Given the description of an element on the screen output the (x, y) to click on. 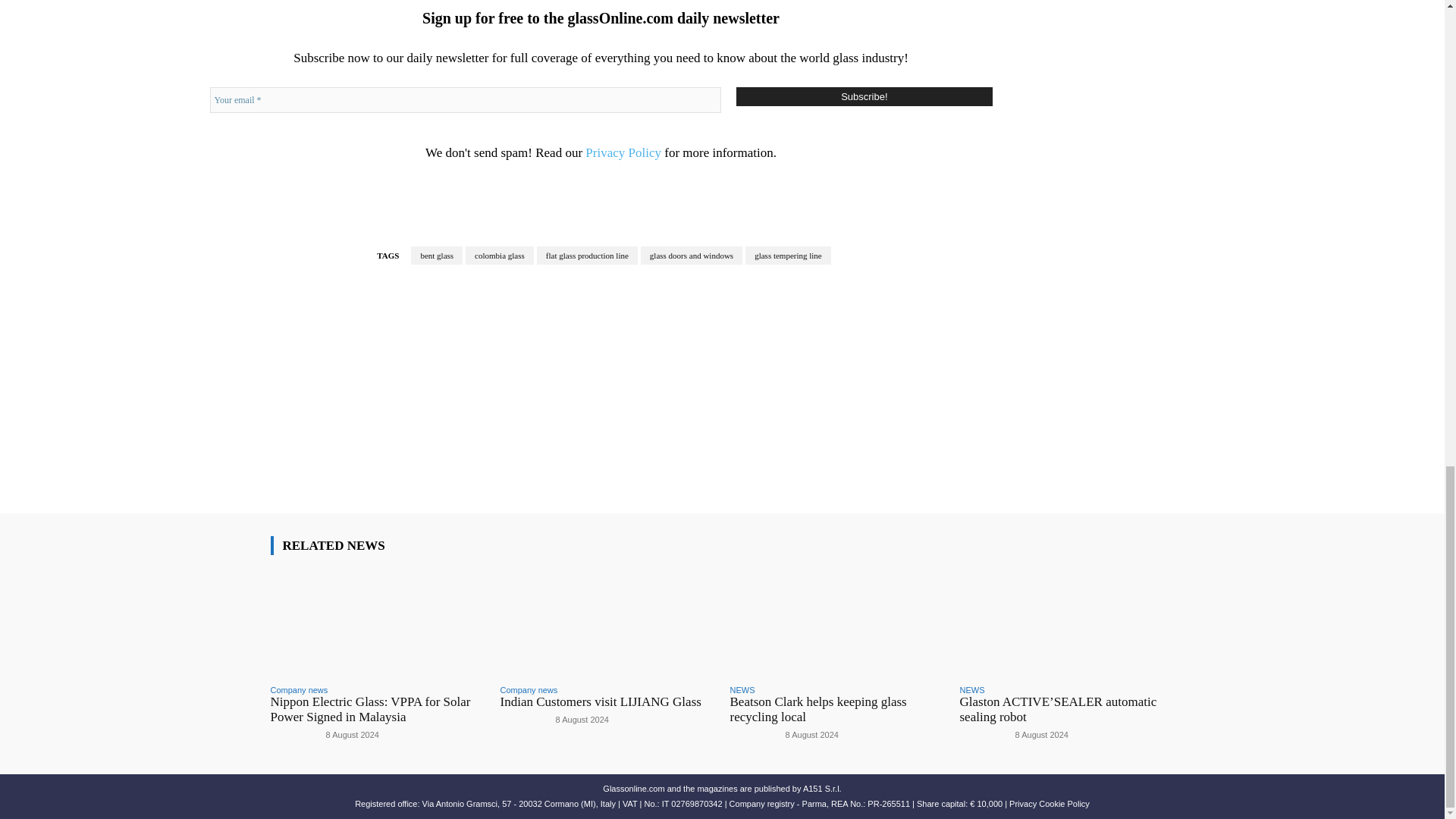
Your email (464, 99)
Subscribe! (863, 96)
